Given the description of an element on the screen output the (x, y) to click on. 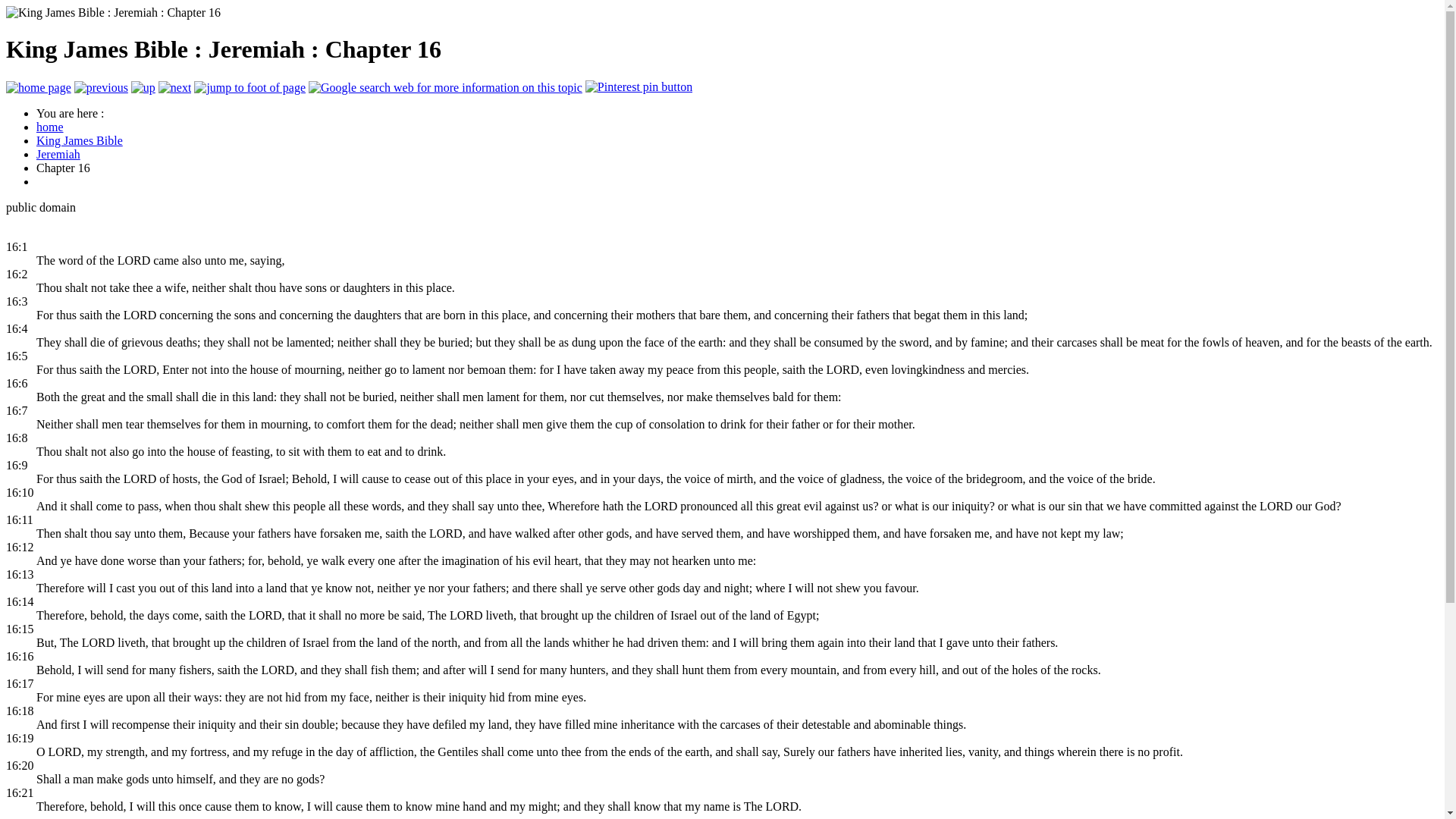
home (50, 126)
Jeremiah (58, 154)
King James Bible (79, 140)
